Given the description of an element on the screen output the (x, y) to click on. 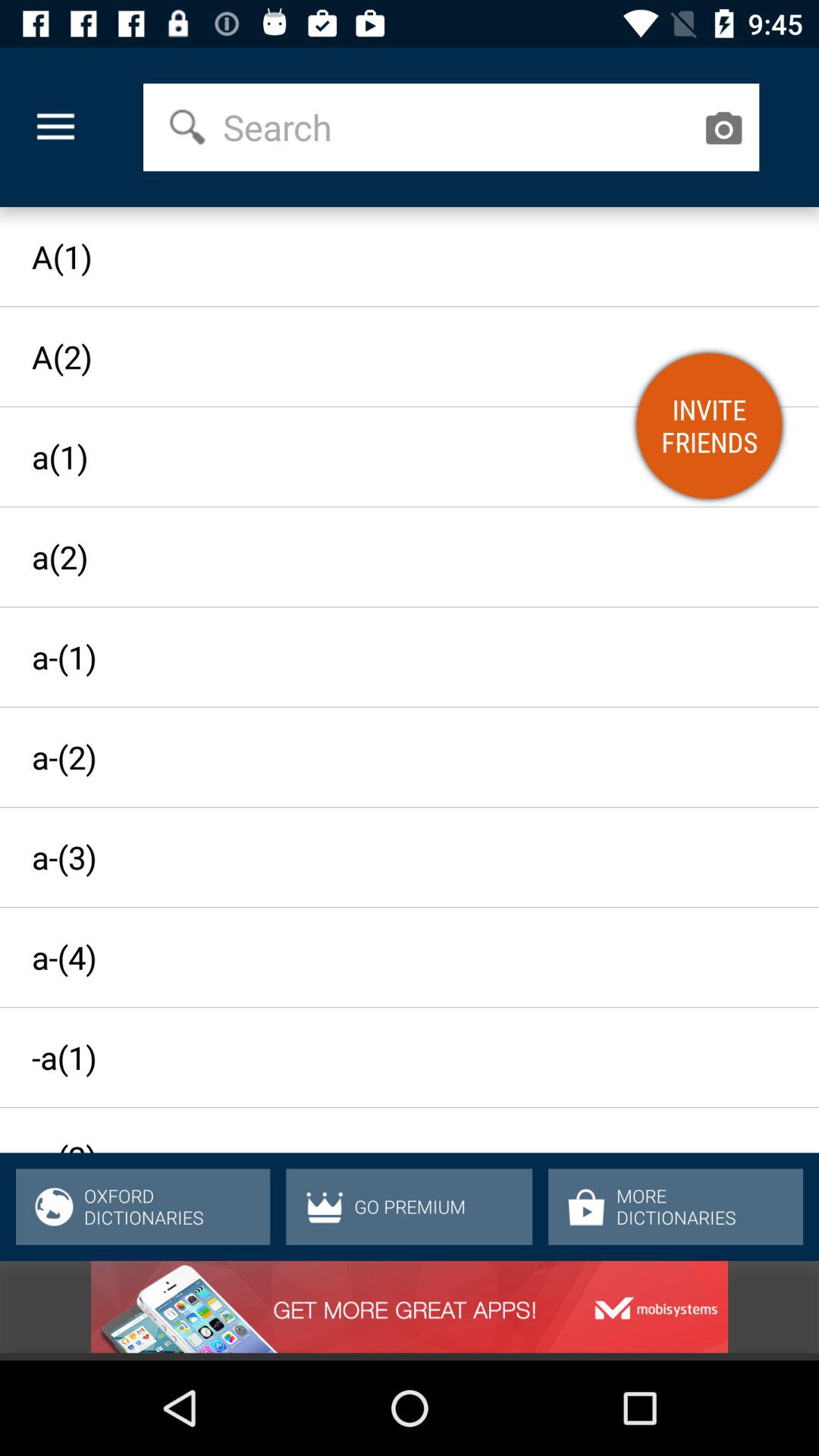
choose the item below the a(1) item (708, 425)
